Given the description of an element on the screen output the (x, y) to click on. 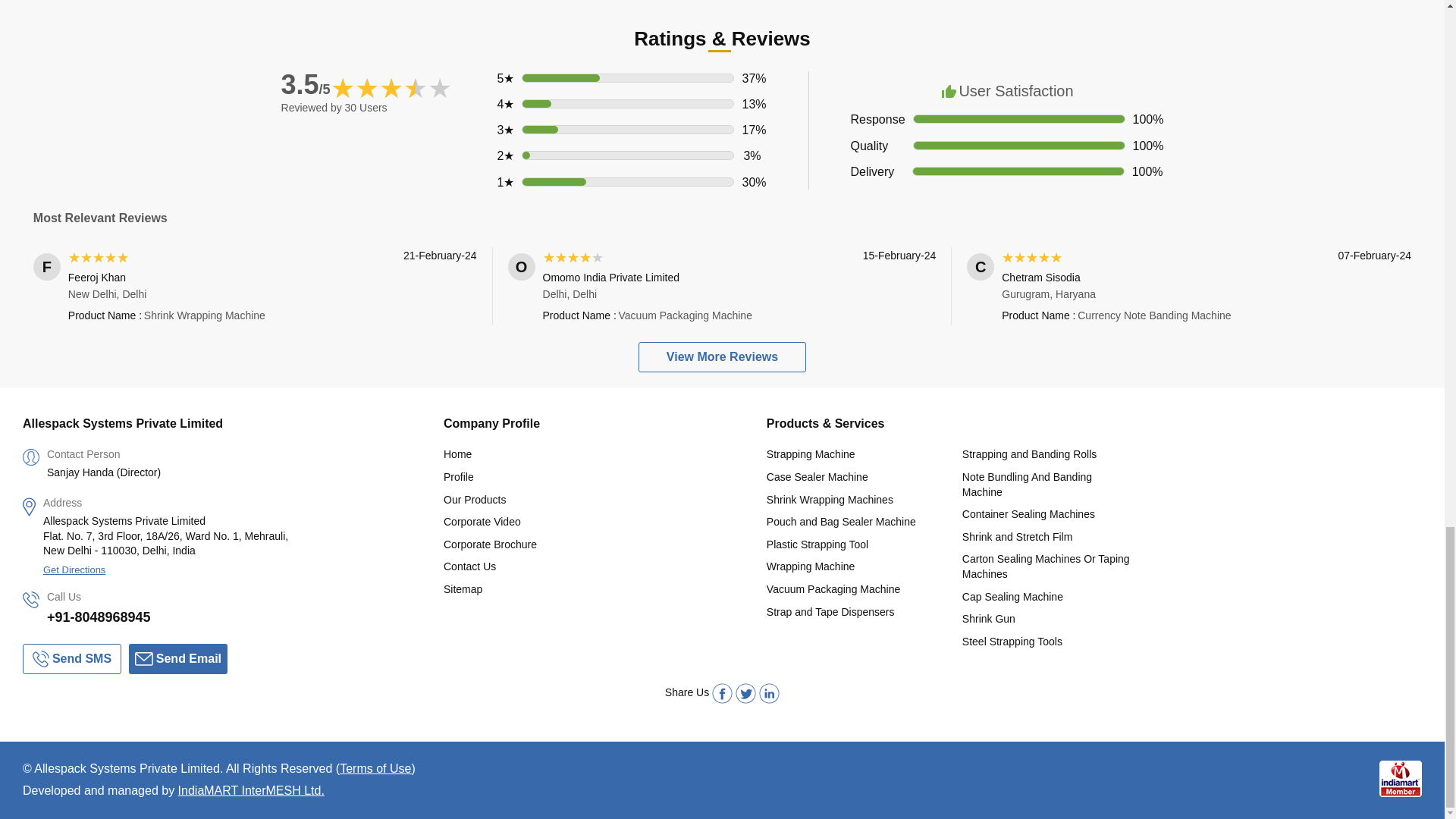
3.5 out of 5 Votes (305, 83)
